Given the description of an element on the screen output the (x, y) to click on. 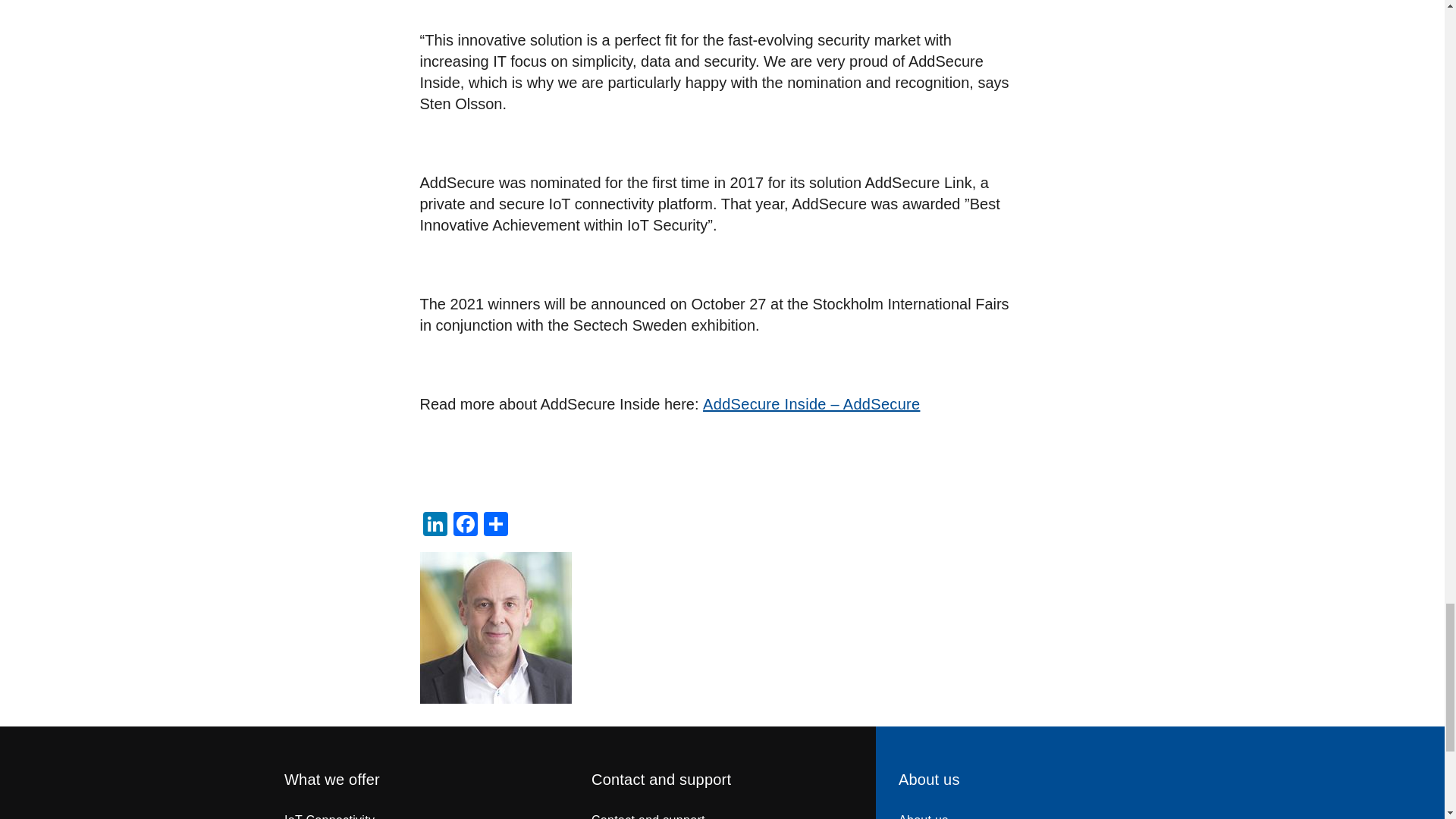
Sten Olsson AddSecure (496, 627)
Facebook (464, 525)
LinkedIn (434, 525)
